Given the description of an element on the screen output the (x, y) to click on. 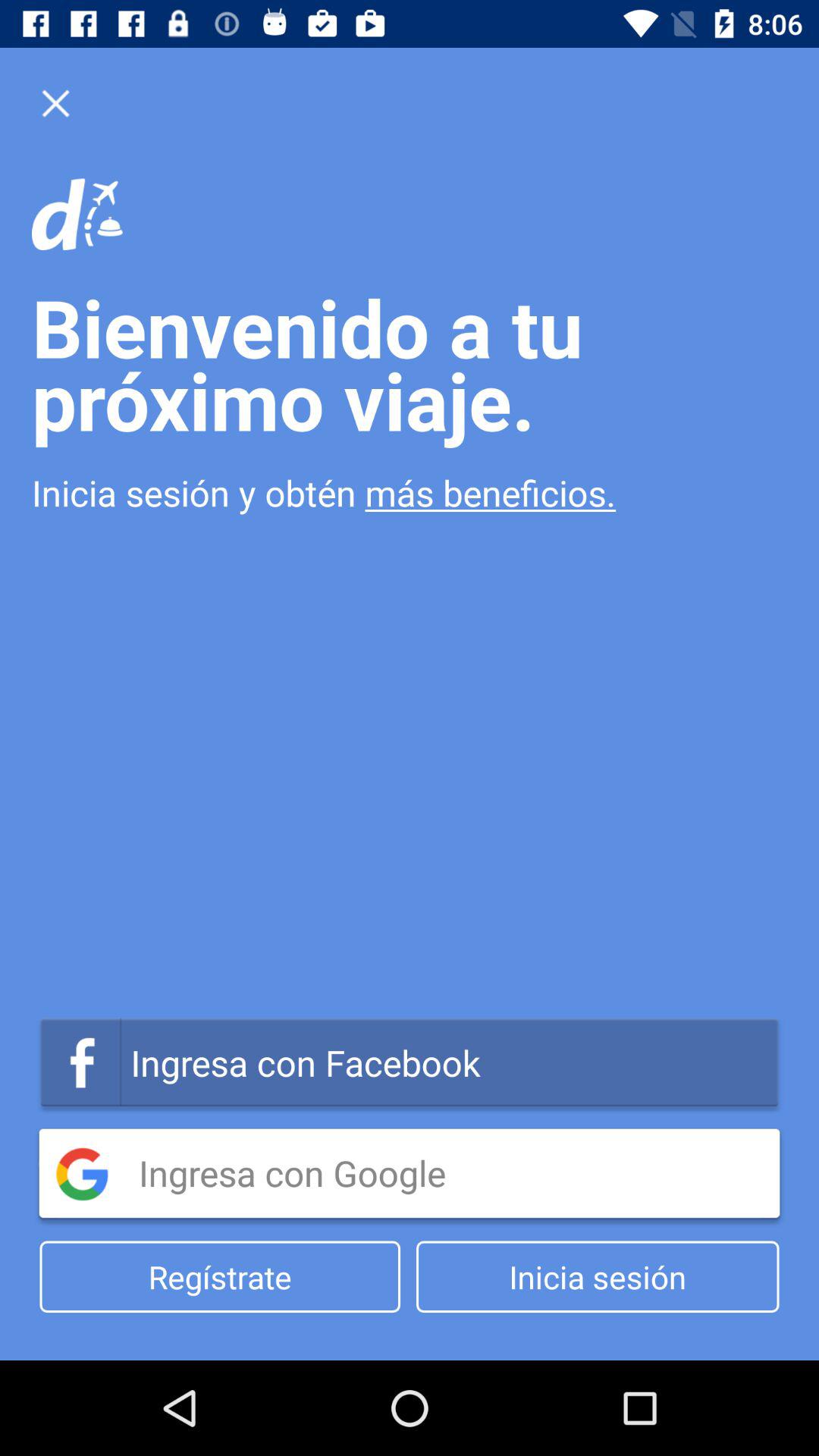
turn off the item below the bienvenido a tu icon (409, 492)
